Given the description of an element on the screen output the (x, y) to click on. 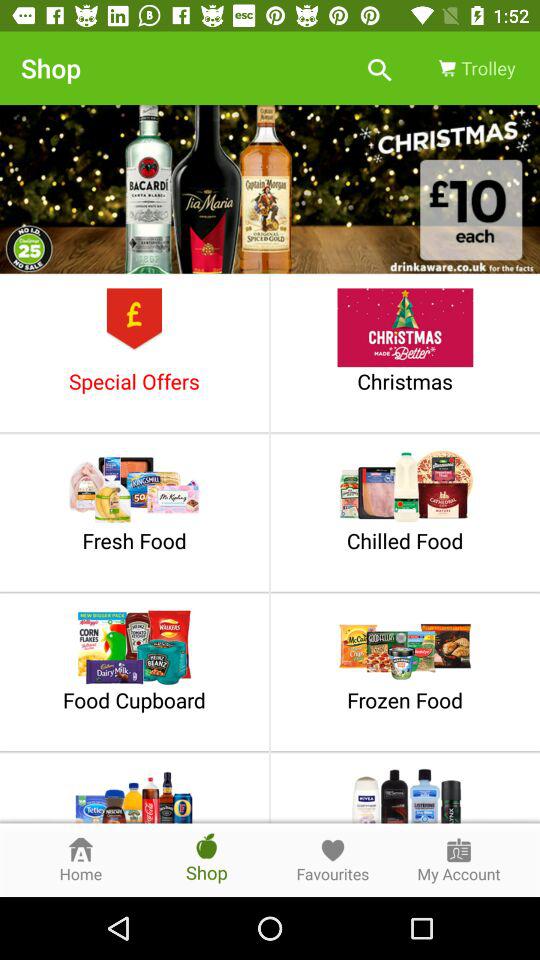
turn off the icon to the right of the shop (379, 67)
